Given the description of an element on the screen output the (x, y) to click on. 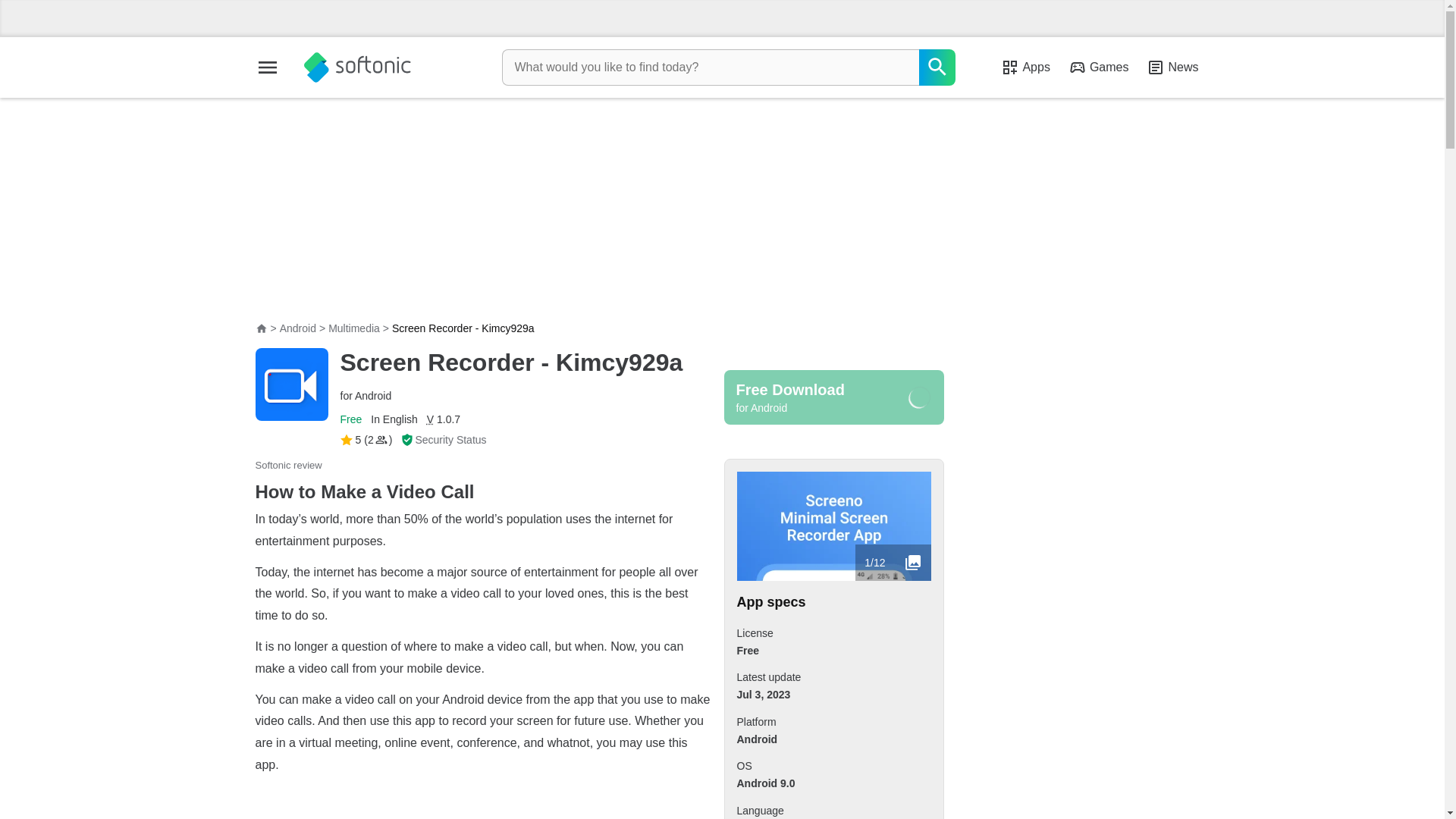
Android (297, 328)
Softonic (356, 67)
